Given the description of an element on the screen output the (x, y) to click on. 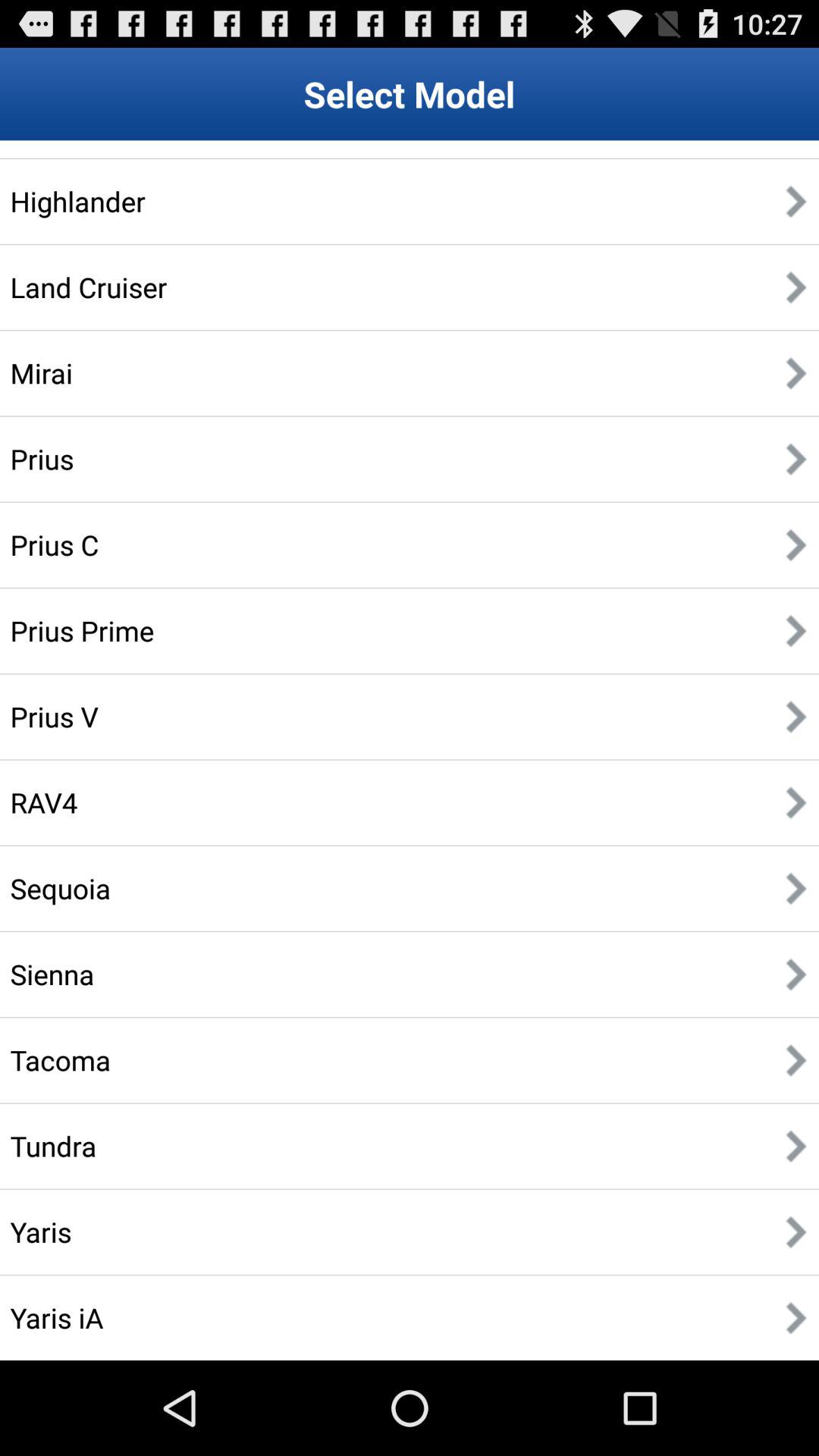
swipe to the rav4 (43, 802)
